Given the description of an element on the screen output the (x, y) to click on. 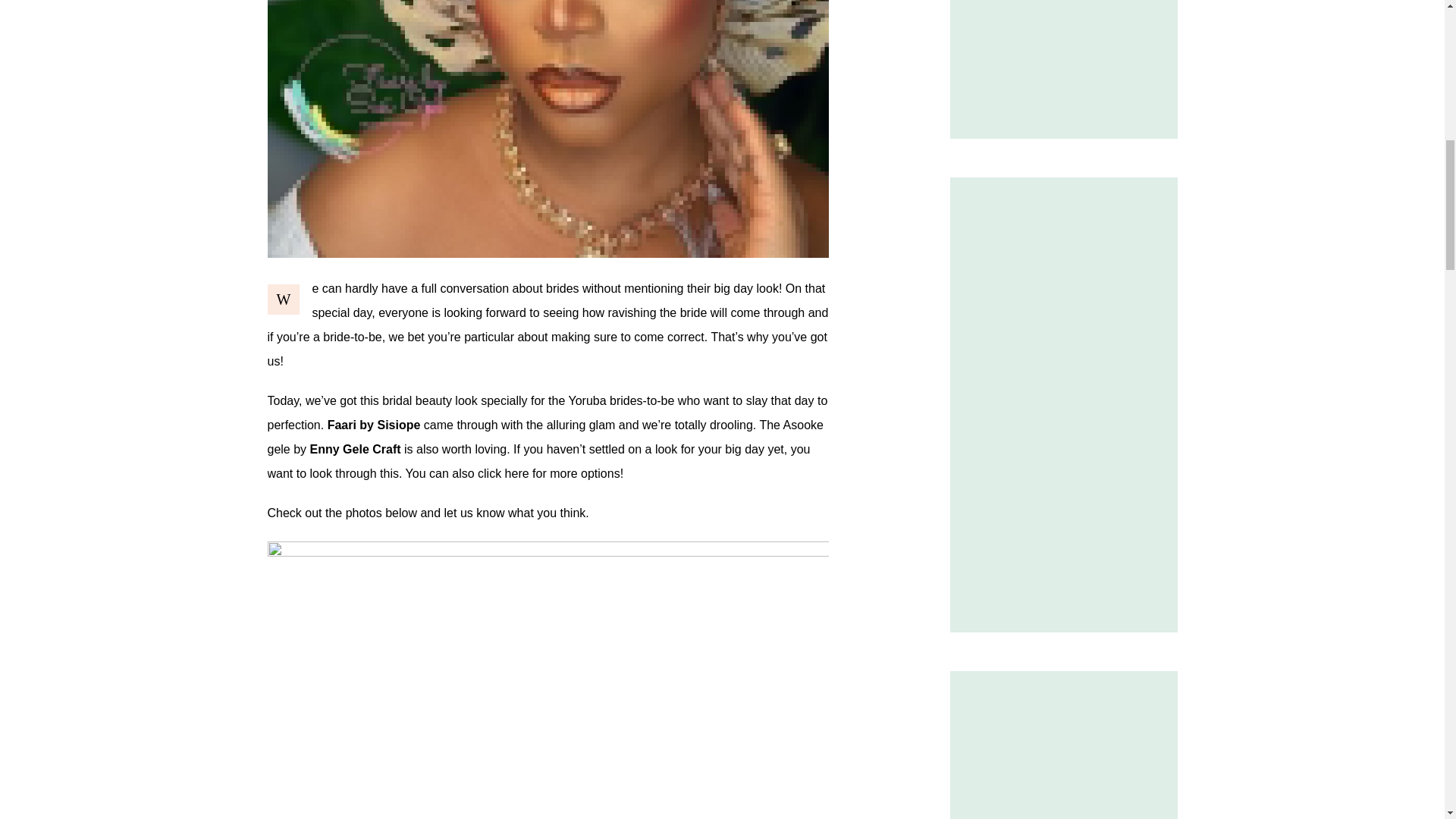
Faari by Sisiope (373, 424)
here (517, 472)
Enny Gele Craft (355, 449)
